Given the description of an element on the screen output the (x, y) to click on. 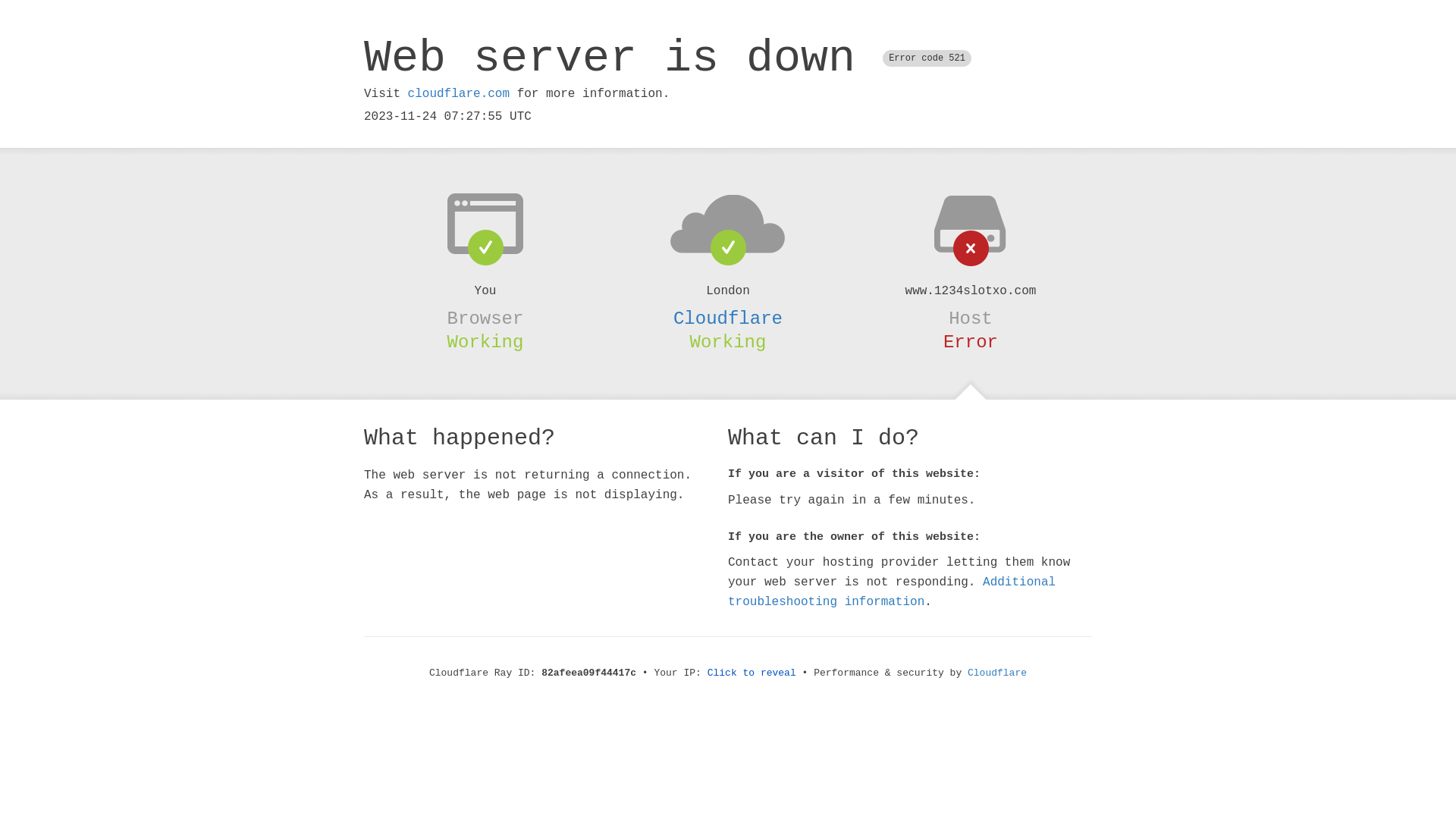
Cloudflare Element type: text (996, 672)
Additional troubleshooting information Element type: text (891, 591)
Cloudflare Element type: text (727, 318)
cloudflare.com Element type: text (458, 93)
Click to reveal Element type: text (751, 672)
